Given the description of an element on the screen output the (x, y) to click on. 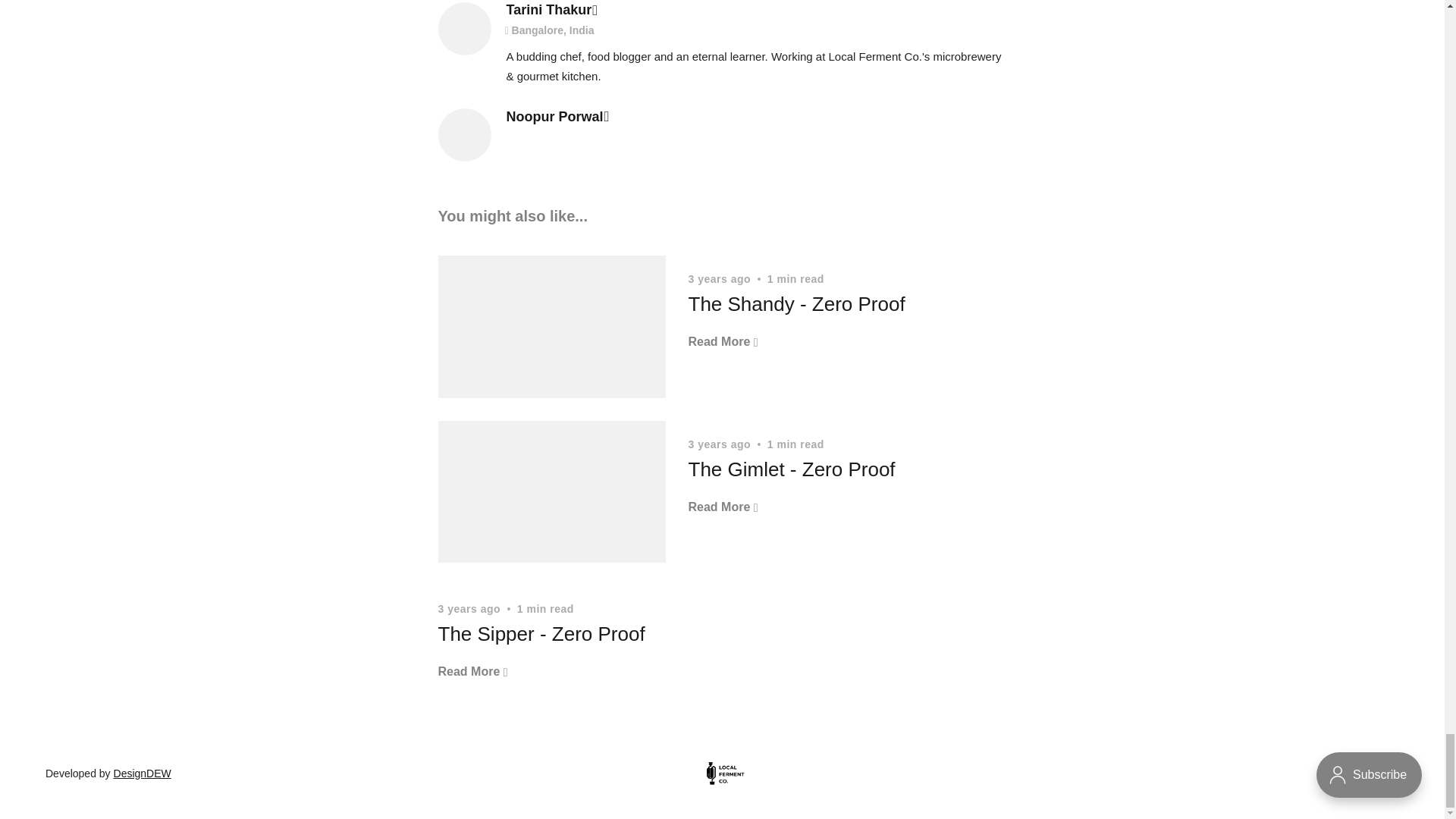
Read More (723, 341)
Read More (473, 670)
The Sipper - Zero Proof (541, 633)
The Shandy - Zero Proof (796, 303)
The Gimlet - Zero Proof (791, 468)
Read More (723, 506)
DesignDEW (142, 773)
